Given the description of an element on the screen output the (x, y) to click on. 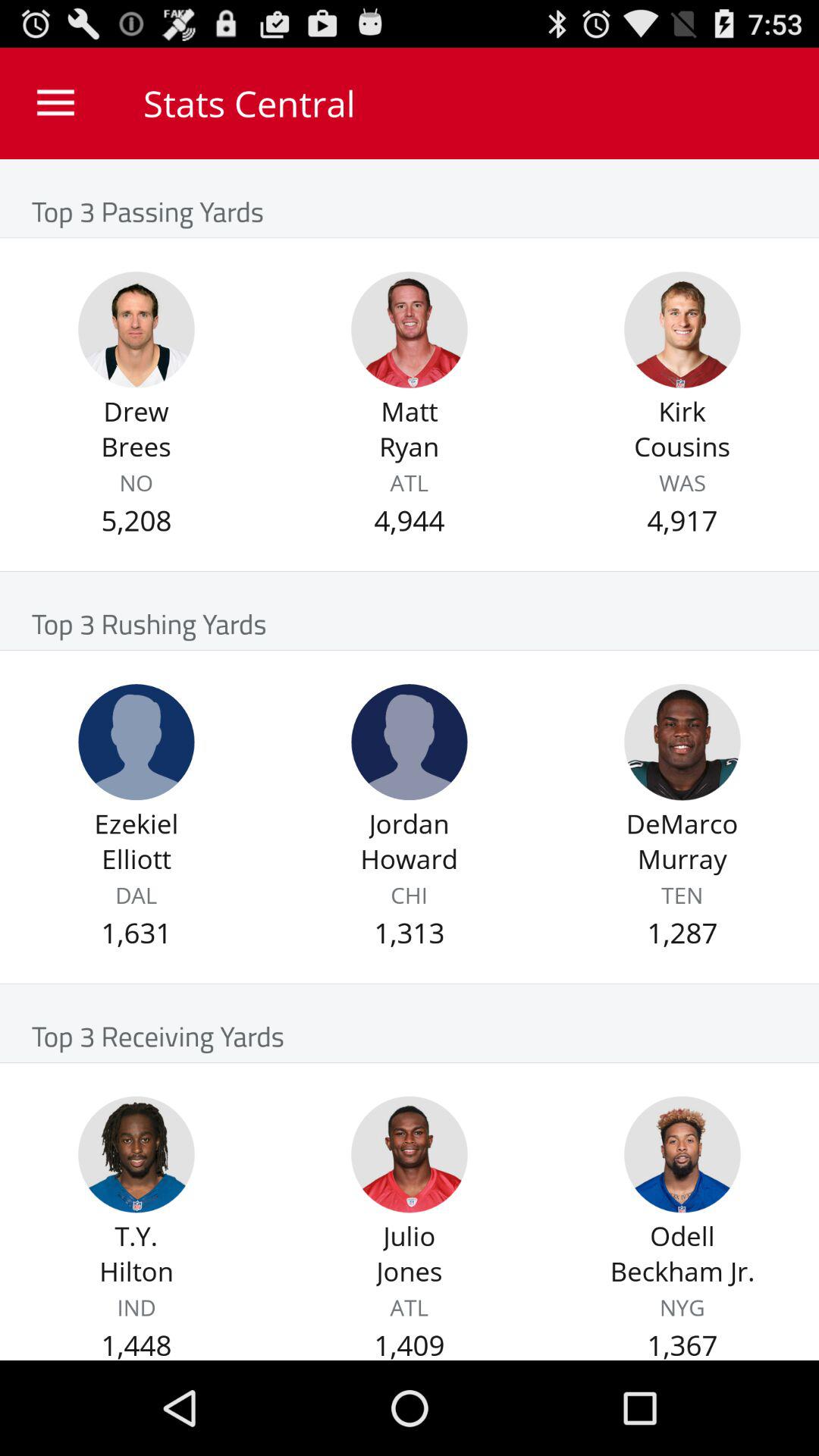
open the selection (409, 741)
